Given the description of an element on the screen output the (x, y) to click on. 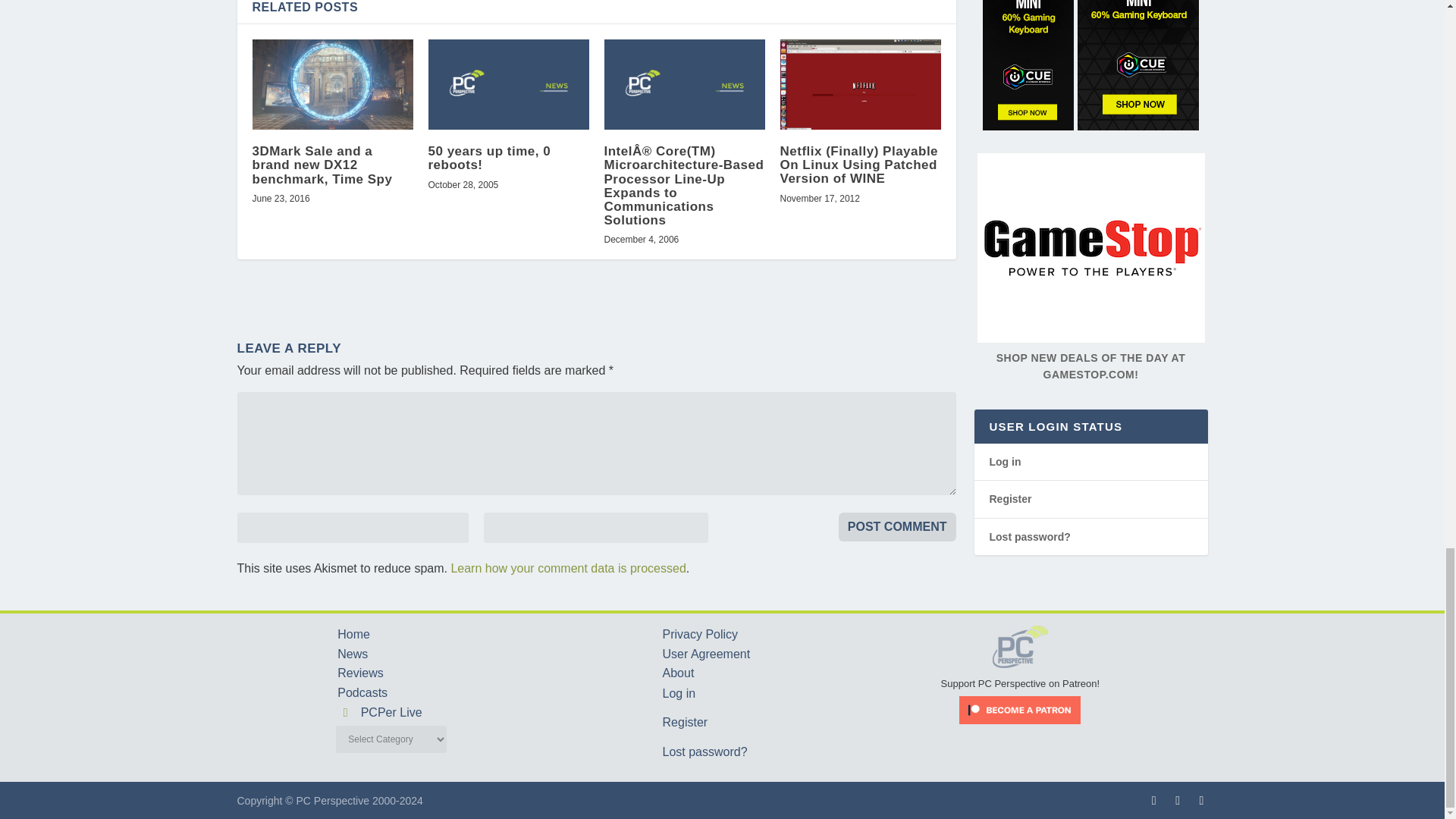
50 years up time, 0 reboots! (508, 84)
3DMark Sale and a brand new DX12 benchmark, Time Spy (331, 84)
Post Comment (897, 526)
Support PC Perspective on Patreon! (1020, 676)
